Given the description of an element on the screen output the (x, y) to click on. 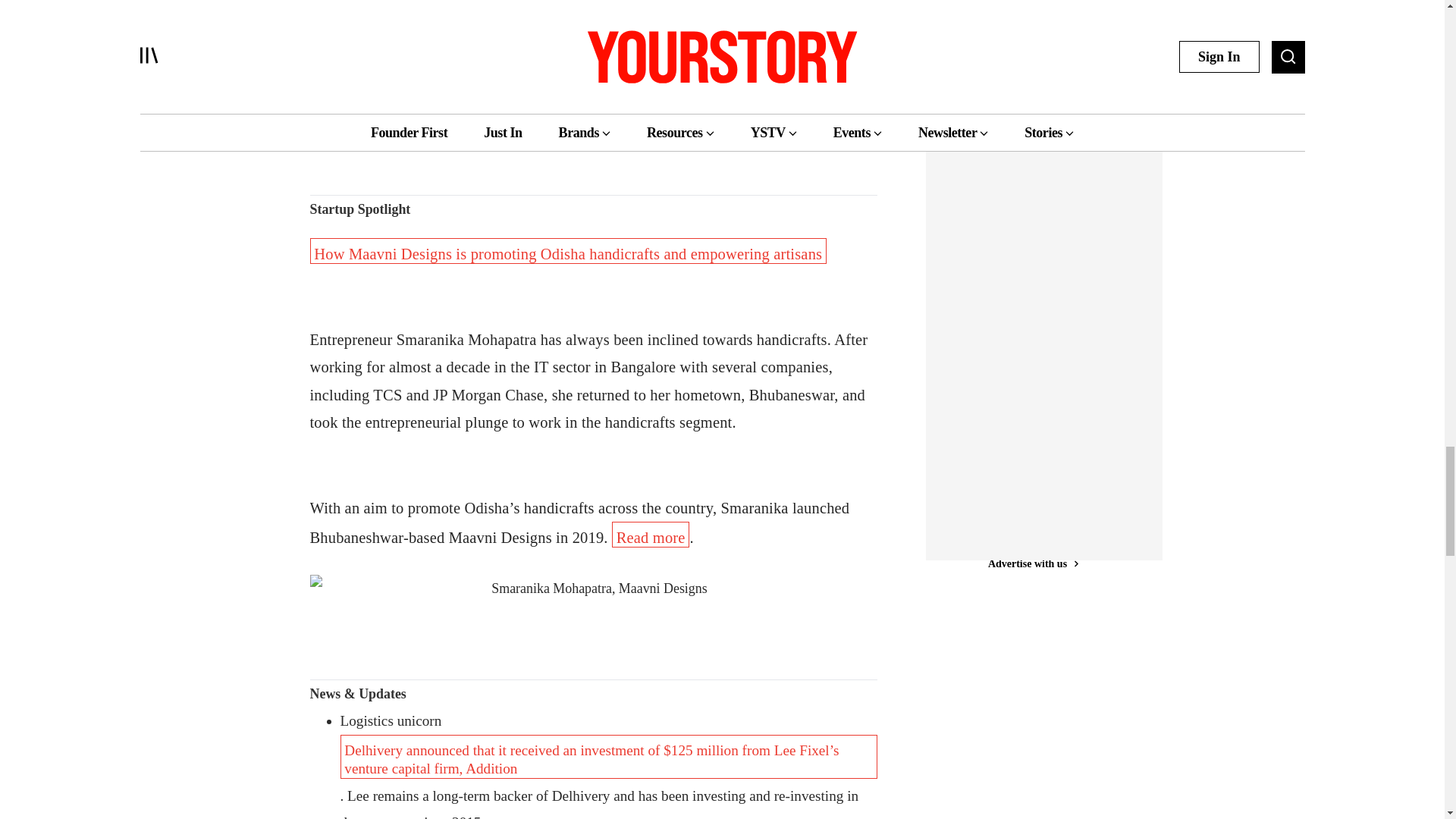
Read more (347, 49)
Read more (649, 534)
